Given the description of an element on the screen output the (x, y) to click on. 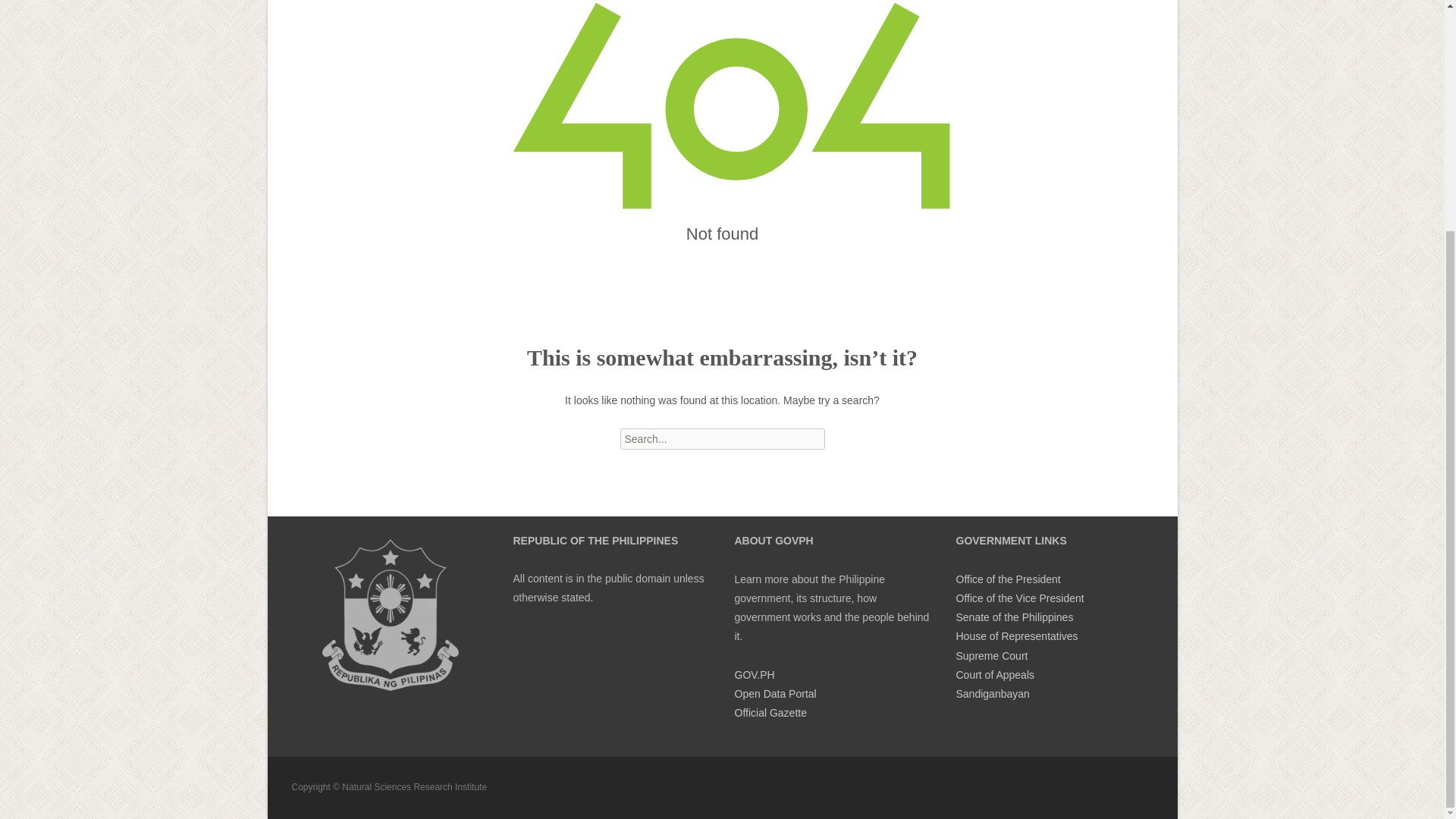
Sandiganbayan (992, 693)
House of Representatives (1016, 635)
Supreme Court (991, 655)
Office of the Vice President (1019, 598)
Official Gazette (769, 712)
Search for: (722, 438)
GOV.PH (753, 674)
Court of Appeals (994, 674)
Senate of the Philippines (1014, 616)
Open Data Portal (774, 693)
